Given the description of an element on the screen output the (x, y) to click on. 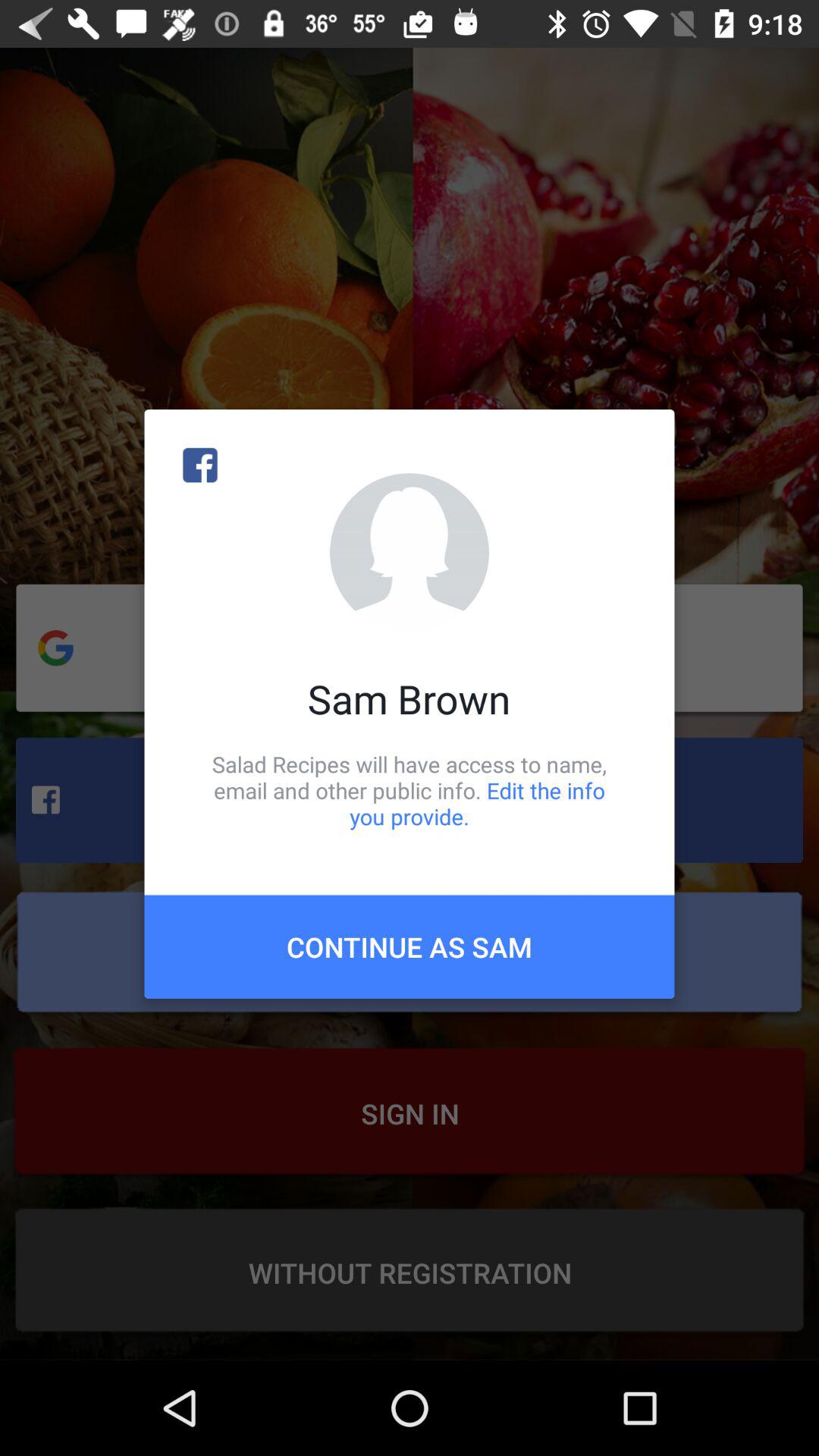
swipe to continue as sam icon (409, 946)
